Given the description of an element on the screen output the (x, y) to click on. 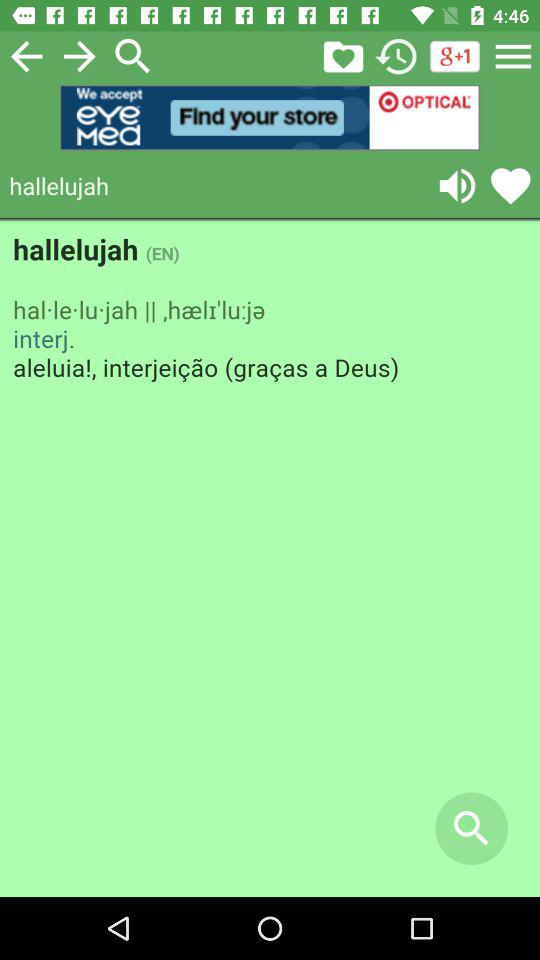
go back (26, 56)
